Given the description of an element on the screen output the (x, y) to click on. 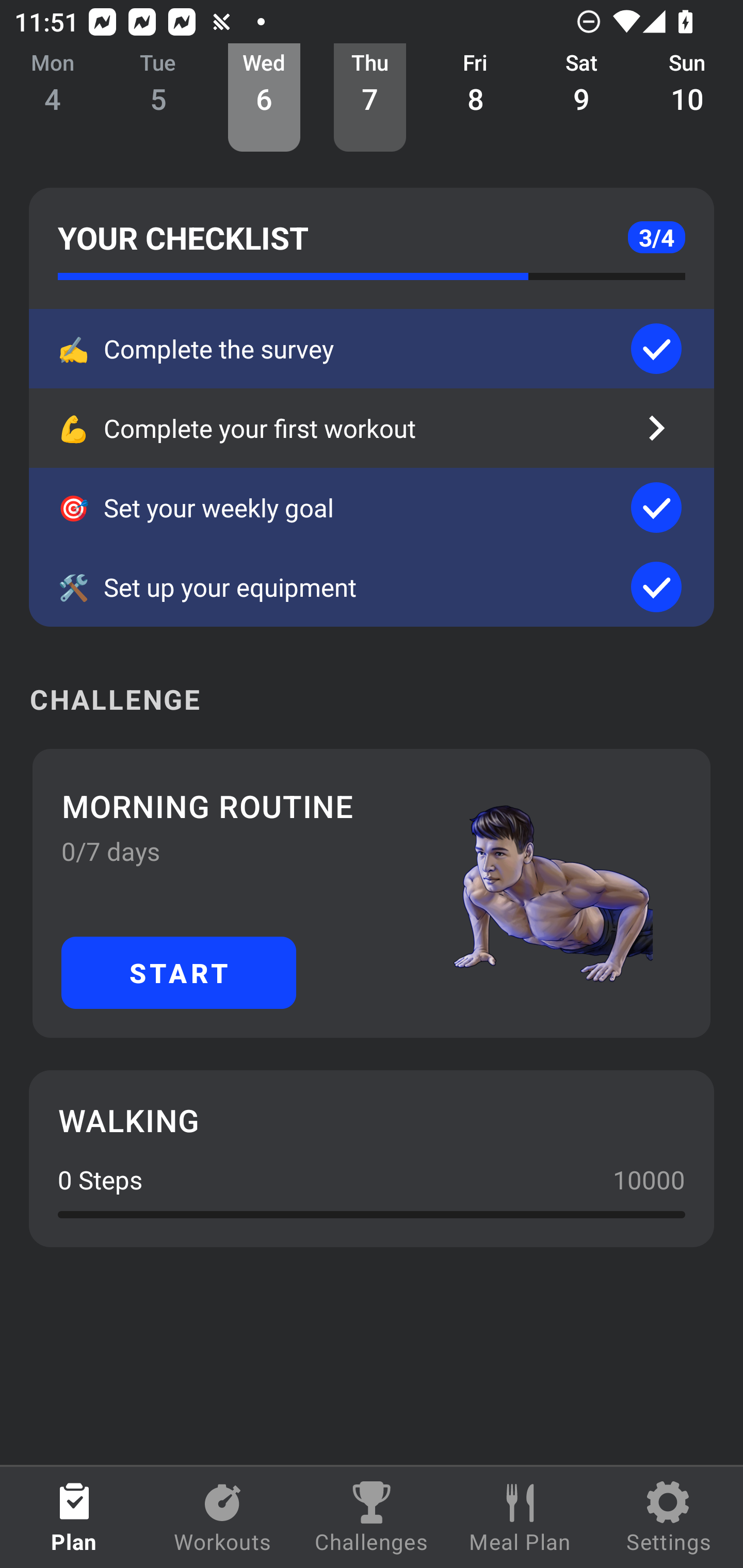
Mon 4 (52, 97)
Tue 5 (158, 97)
Wed 6 (264, 97)
Thu 7 (369, 97)
Fri 8 (475, 97)
Sat 9 (581, 97)
Sun 10 (687, 97)
💪 Complete your first workout (371, 427)
MORNING ROUTINE 0/7 days START (371, 892)
START (178, 972)
WALKING 0 Steps 10000 0.0 (371, 1158)
 Workouts  (222, 1517)
 Challenges  (371, 1517)
 Meal Plan  (519, 1517)
 Settings  (668, 1517)
